Given the description of an element on the screen output the (x, y) to click on. 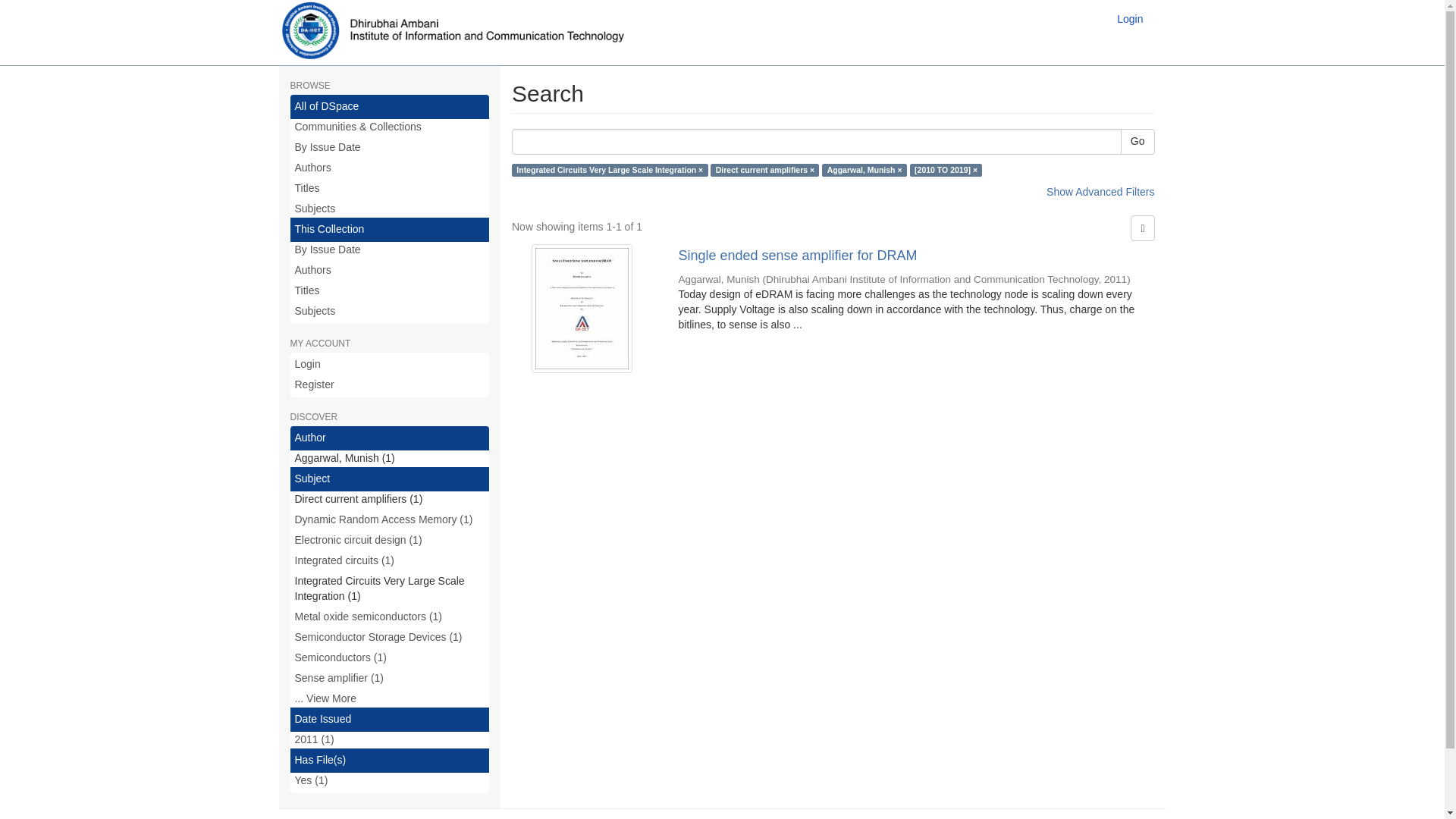
Titles (389, 188)
By Issue Date (389, 147)
Date Issued (389, 719)
... View More (389, 699)
Subjects (389, 209)
Login (389, 364)
Subjects (389, 311)
This Collection (389, 229)
Show Advanced Filters (1100, 191)
Subject (389, 478)
Author (389, 437)
Authors (389, 168)
By Issue Date (389, 250)
Register (389, 385)
Titles (389, 291)
